Given the description of an element on the screen output the (x, y) to click on. 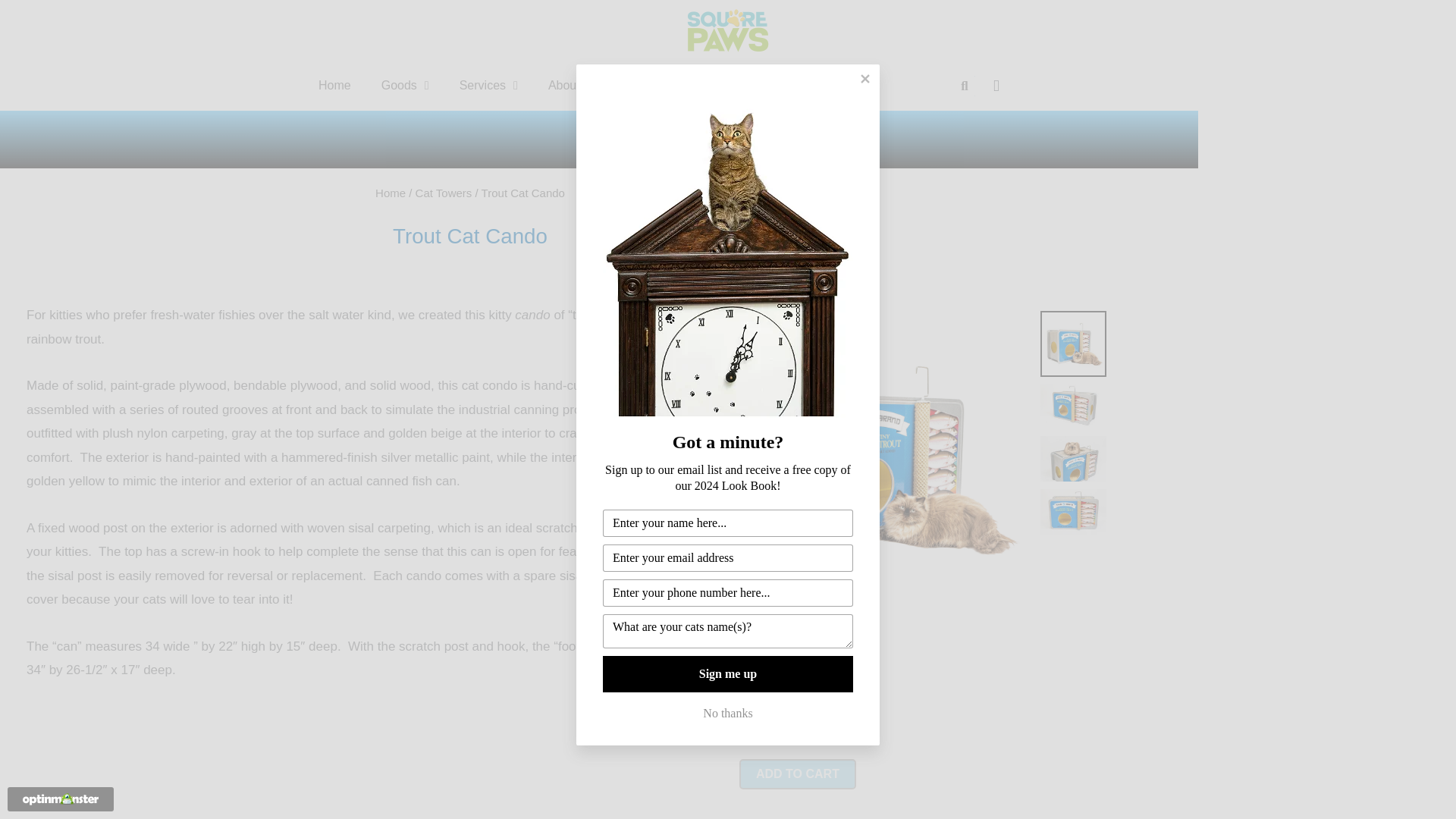
Contact Us (731, 85)
Home (334, 85)
Goods (405, 85)
DSC5422-Edit.jpg (592, 413)
Services (488, 85)
Blog (652, 85)
About Us (579, 85)
SP-LOGO-Color-CMYK-drop-shadow (727, 30)
